Given the description of an element on the screen output the (x, y) to click on. 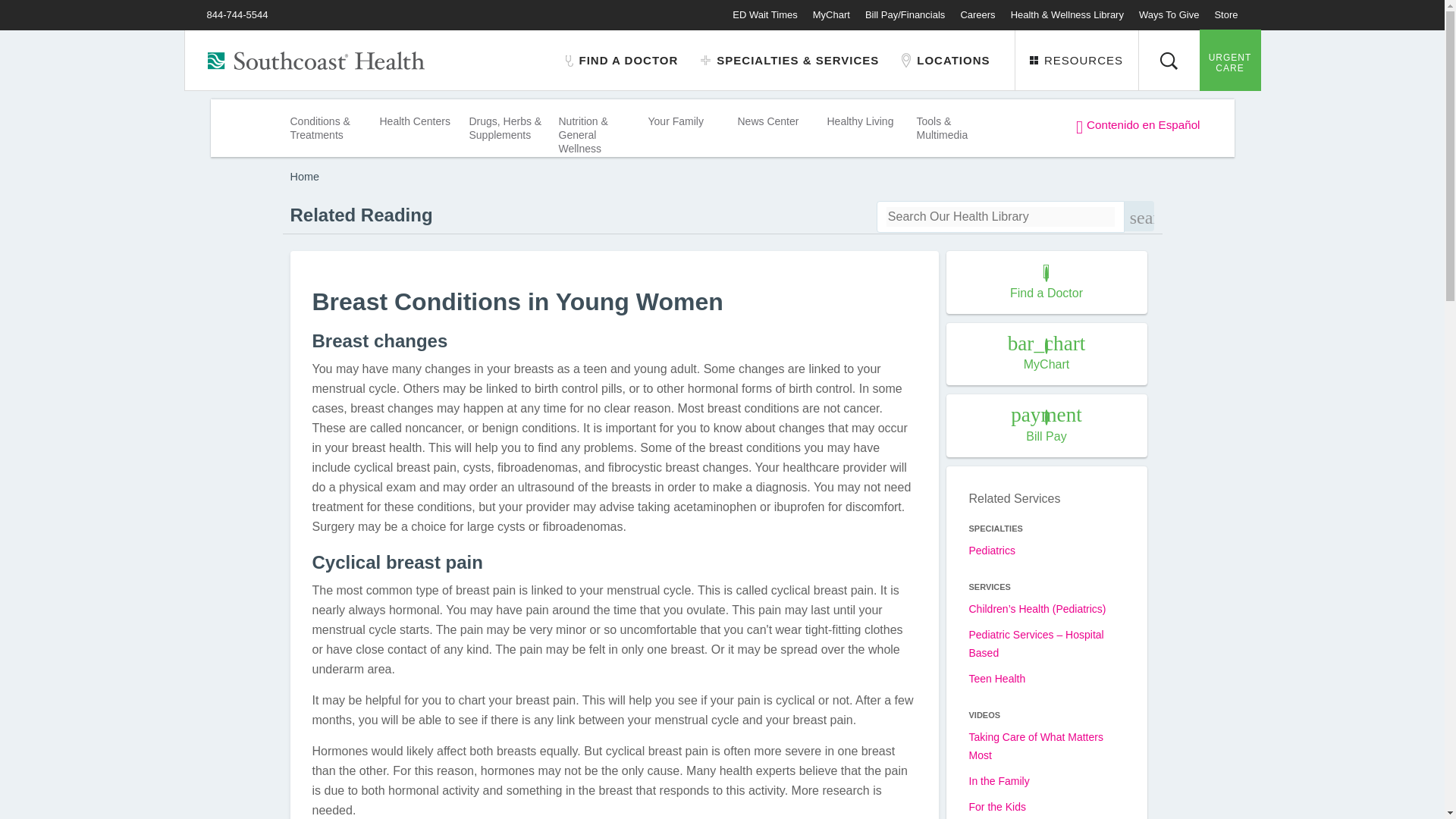
LOCATIONS (945, 60)
Resources (1076, 60)
MyChart (831, 14)
Search (1168, 60)
Ways To Give (1168, 14)
Ways To Give (1168, 14)
RESOURCES (1076, 60)
URGENT CARE (1229, 59)
Locations (945, 60)
Careers (976, 14)
Store (1225, 14)
Store (1225, 14)
MyChart (831, 14)
Careers (976, 14)
